Given the description of an element on the screen output the (x, y) to click on. 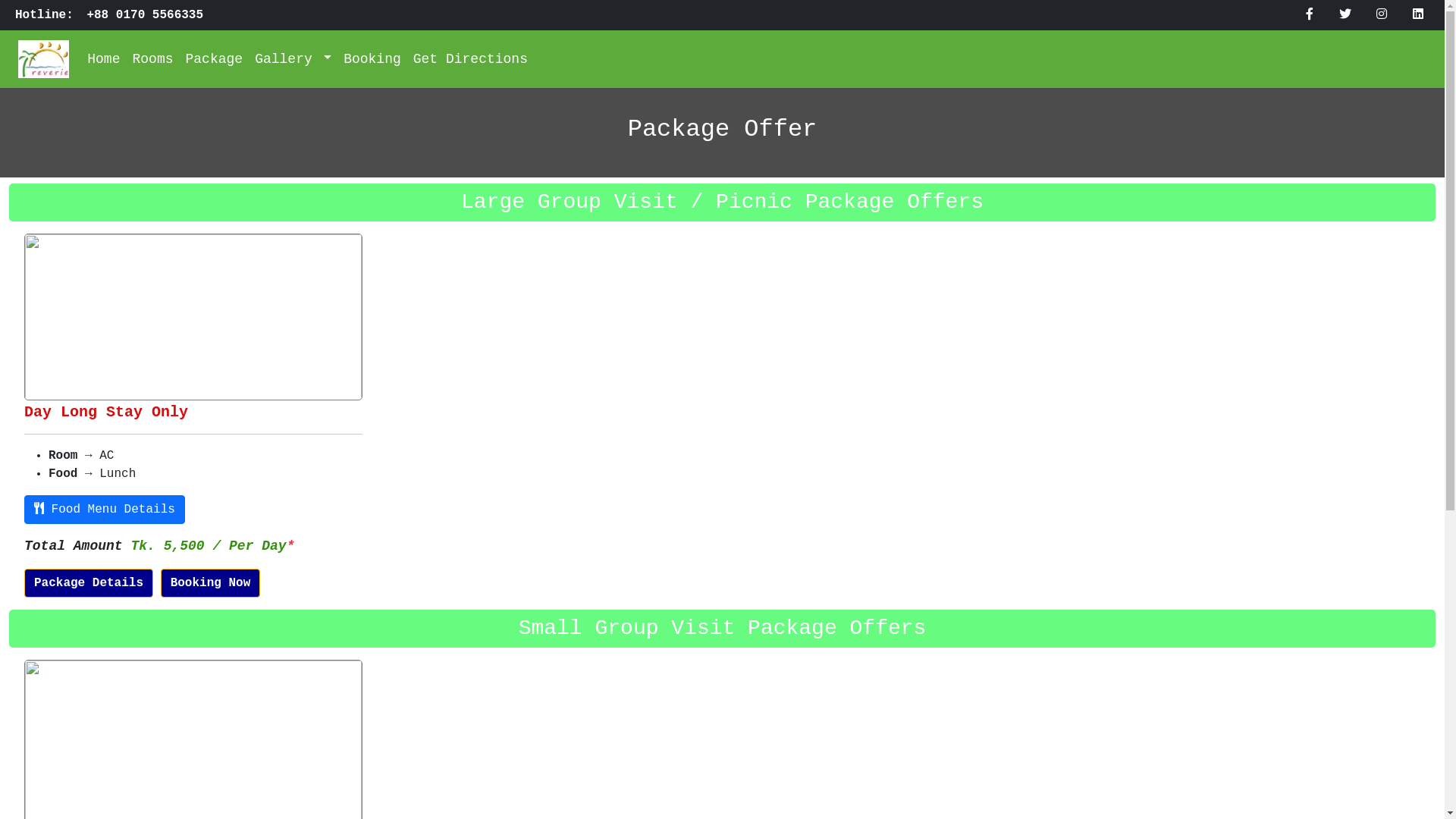
Booking Element type: text (372, 58)
Gallery Element type: text (292, 58)
Food Menu Details Element type: text (104, 509)
Package Element type: text (213, 58)
Package Details Element type: text (88, 582)
Booking Now Element type: text (210, 582)
Get Directions Element type: text (470, 58)
Rooms Element type: text (151, 58)
Home
(current) Element type: text (103, 58)
